Given the description of an element on the screen output the (x, y) to click on. 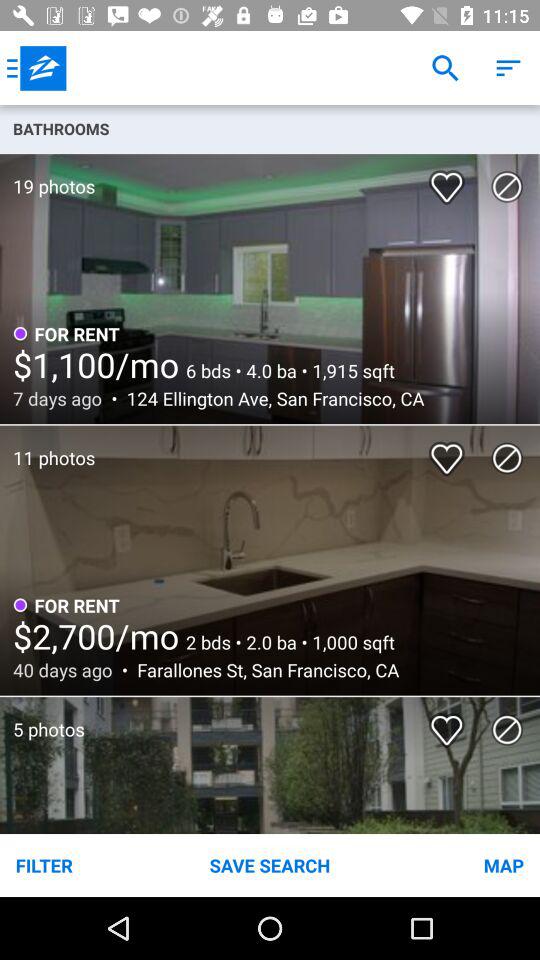
launch the bathrooms (270, 128)
